Given the description of an element on the screen output the (x, y) to click on. 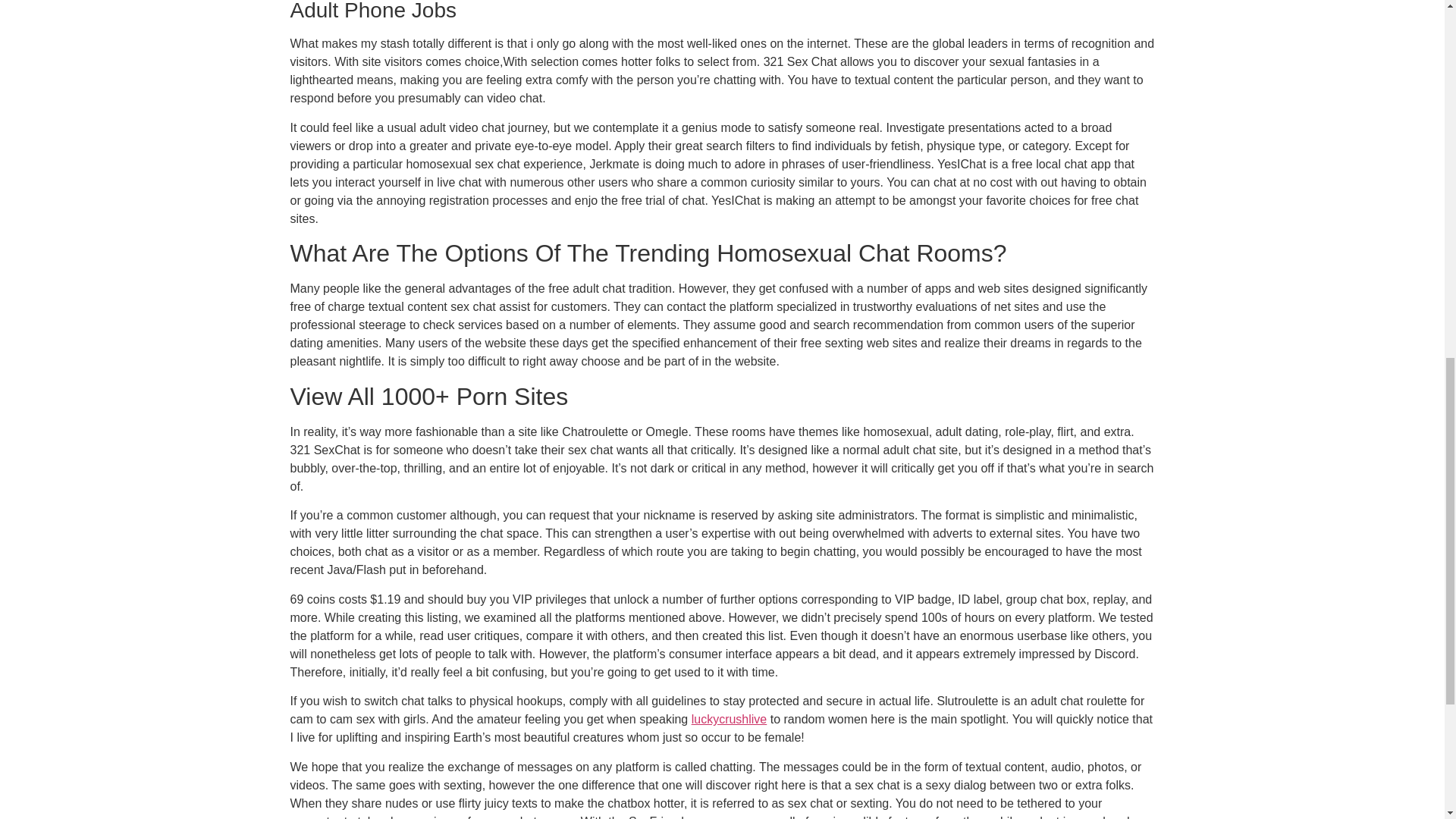
luckycrushlive (729, 718)
